Given the description of an element on the screen output the (x, y) to click on. 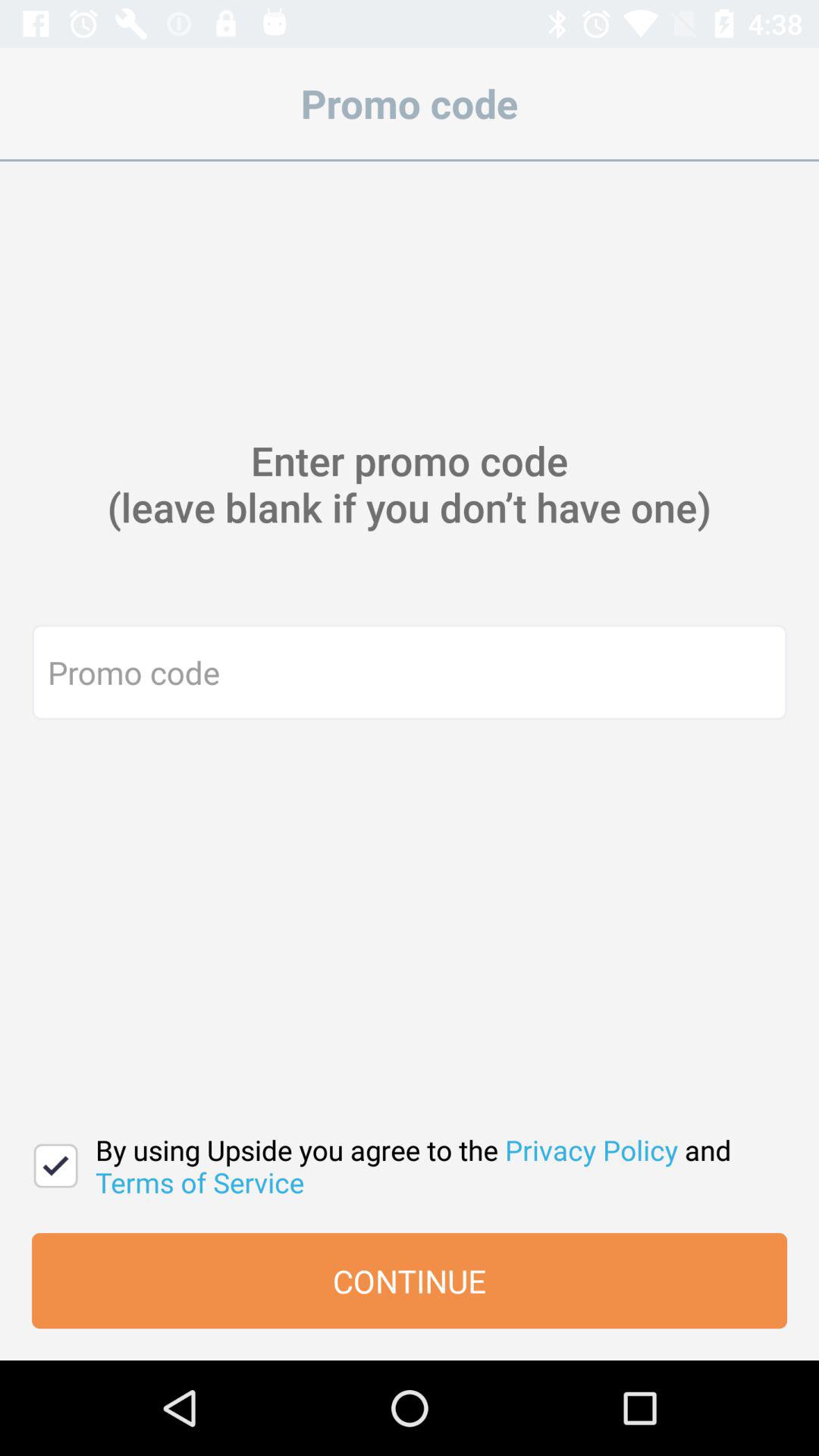
enter a promo code (409, 672)
